Given the description of an element on the screen output the (x, y) to click on. 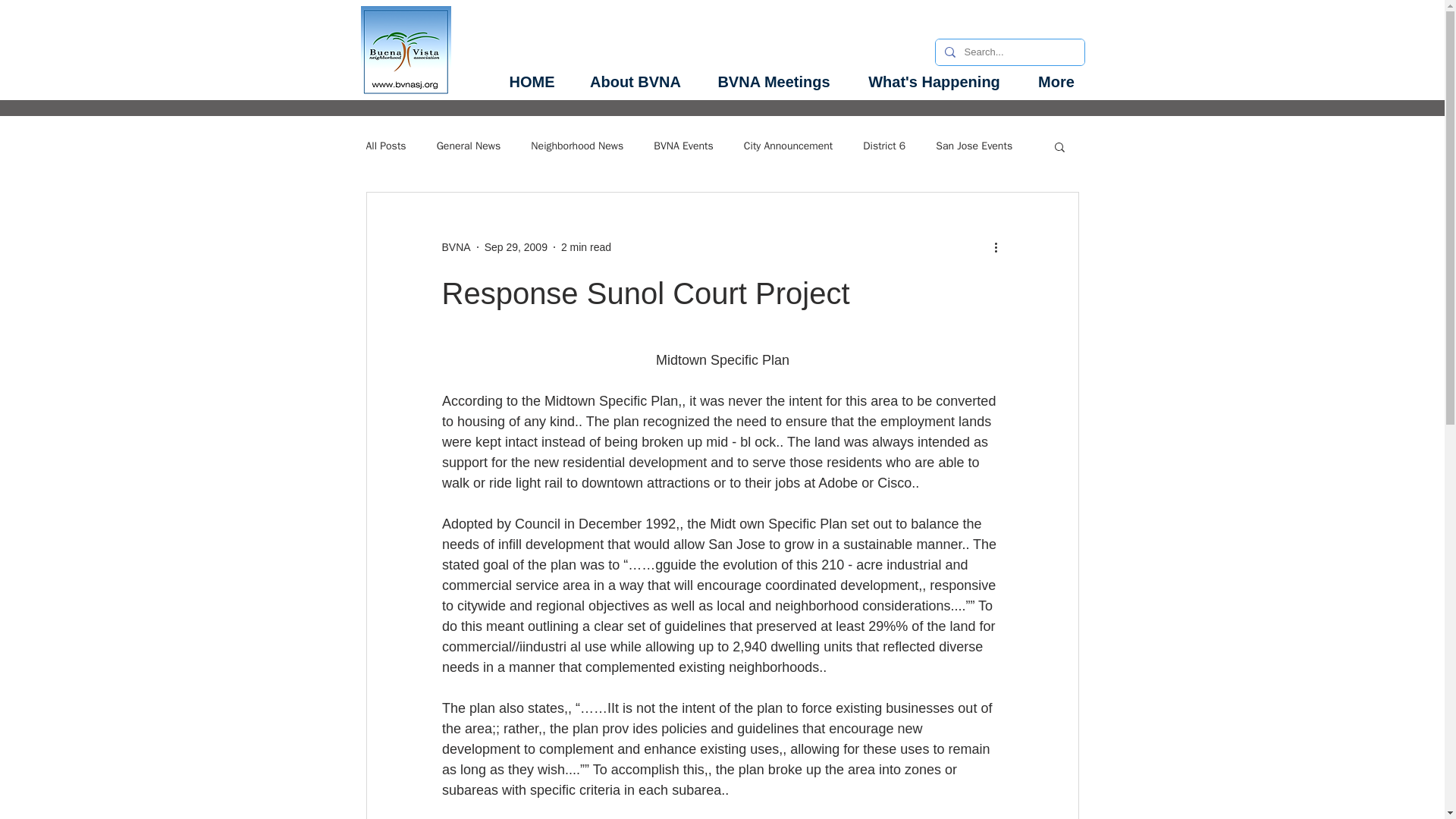
Sep 29, 2009 (515, 246)
BVNA (455, 247)
2 min read (585, 246)
San Jose Events (973, 146)
General News (468, 146)
Neighborhood News (577, 146)
City Announcement (788, 146)
All Posts (385, 146)
District 6 (884, 146)
HOME (532, 81)
BVNA Meetings (773, 81)
BVNA Events (683, 146)
